Given the description of an element on the screen output the (x, y) to click on. 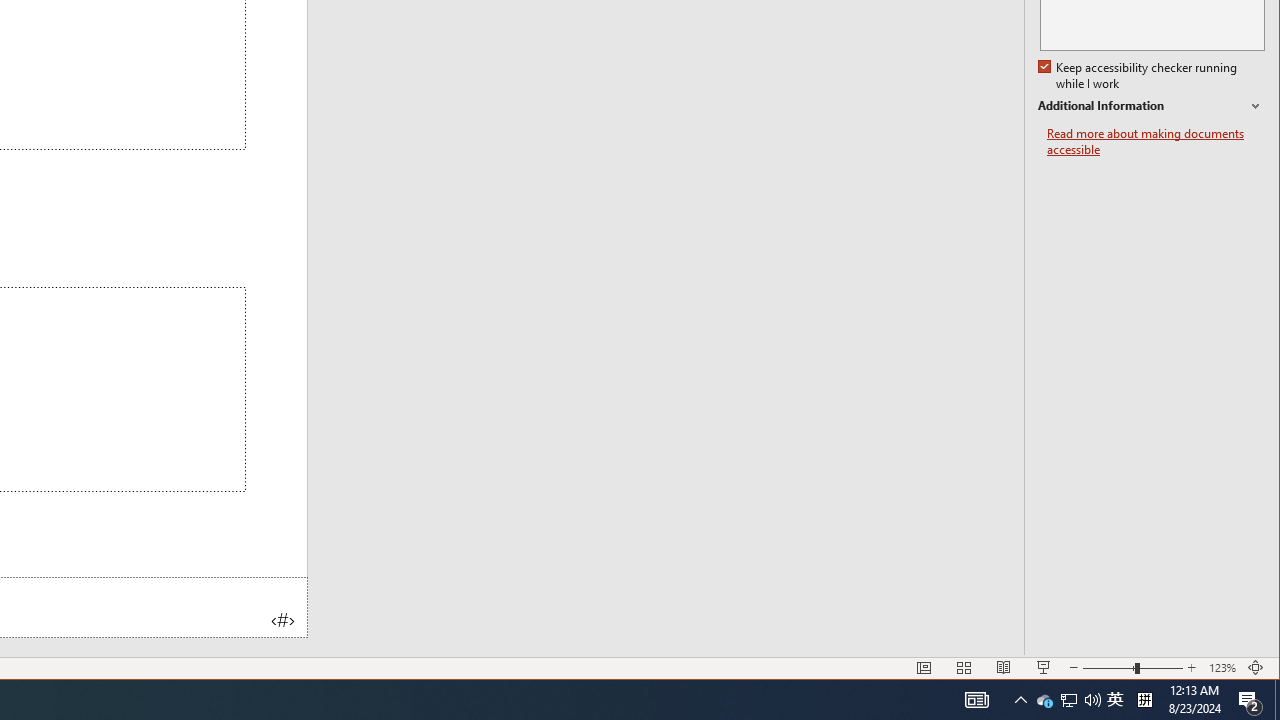
AutomationID: 4105 (976, 699)
Keep accessibility checker running while I work (1115, 699)
Notification Chevron (1139, 76)
User Promoted Notification Area (1020, 699)
Zoom 123% (1068, 699)
Show desktop (1222, 668)
Action Center, 2 new notifications (1277, 699)
Additional Information (1250, 699)
